Given the description of an element on the screen output the (x, y) to click on. 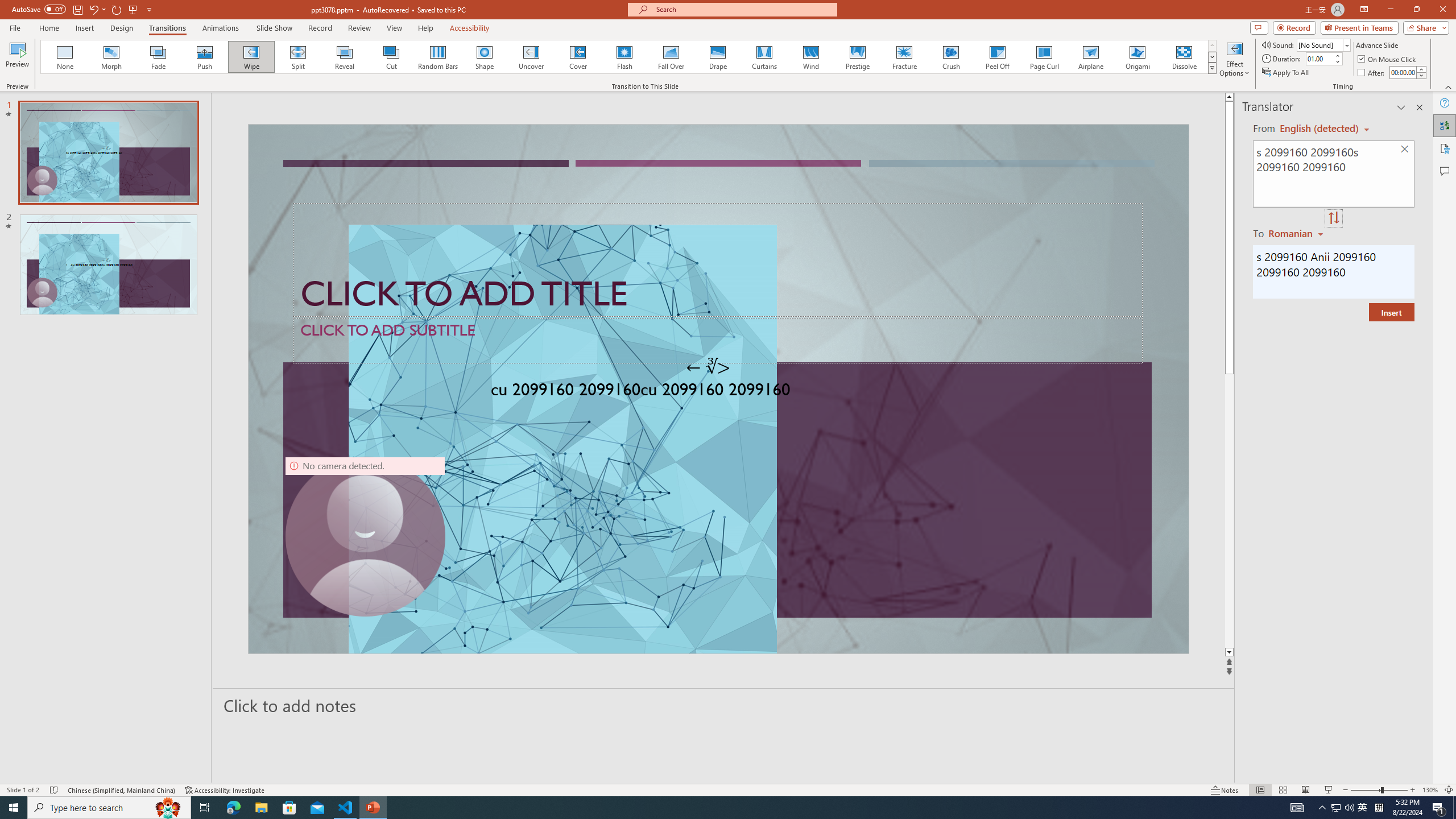
On Mouse Click (1387, 58)
Apply To All (1286, 72)
After (1403, 72)
After (1372, 72)
Czech (1296, 232)
Transition Effects (1212, 67)
